Given the description of an element on the screen output the (x, y) to click on. 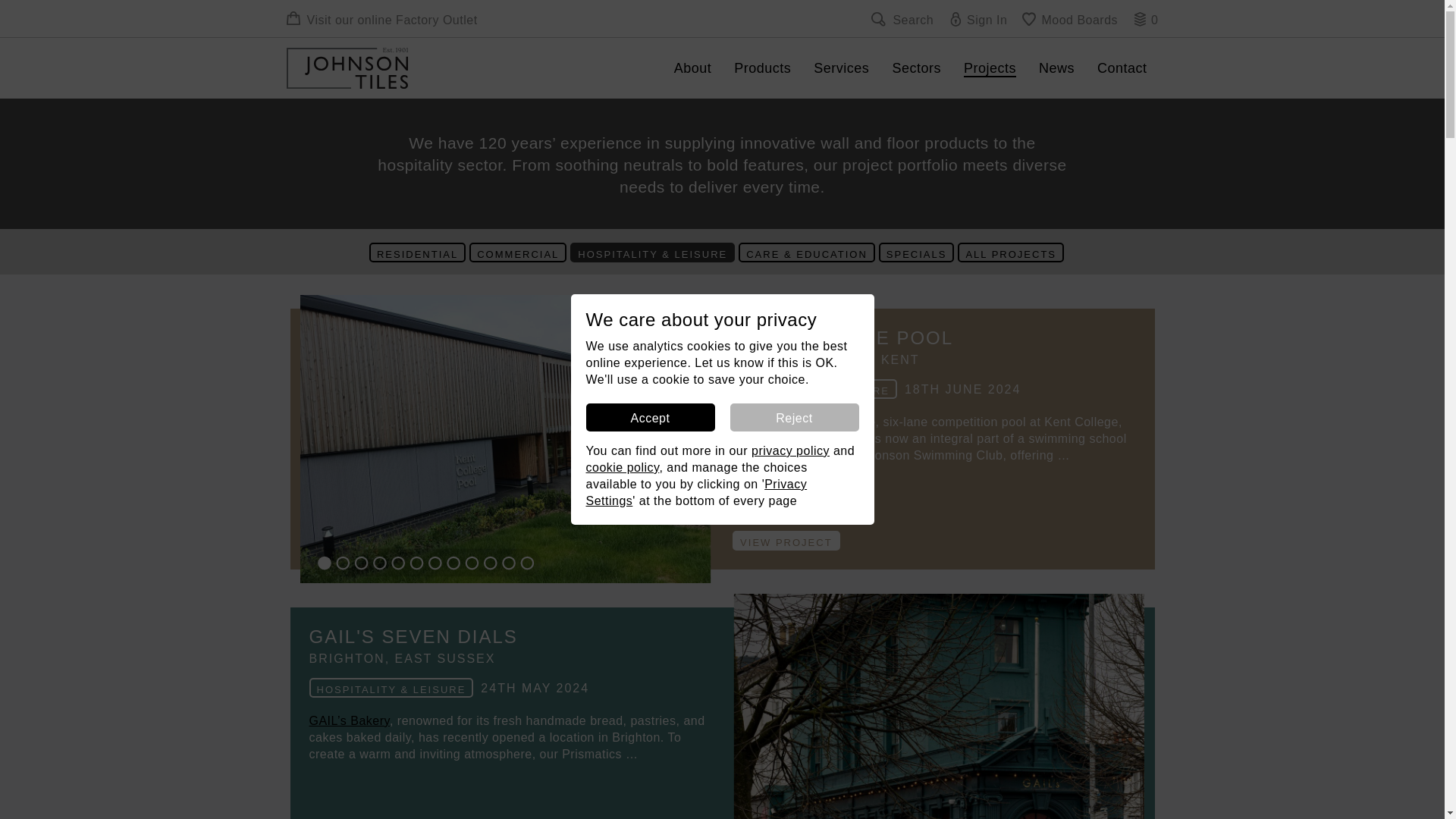
0 (1144, 20)
About (692, 67)
Products (762, 67)
Sign In (978, 20)
Mood Boards (1070, 20)
Search (901, 20)
Mood Boards (1070, 20)
Visit our online Factory Outlet (381, 19)
